Given the description of an element on the screen output the (x, y) to click on. 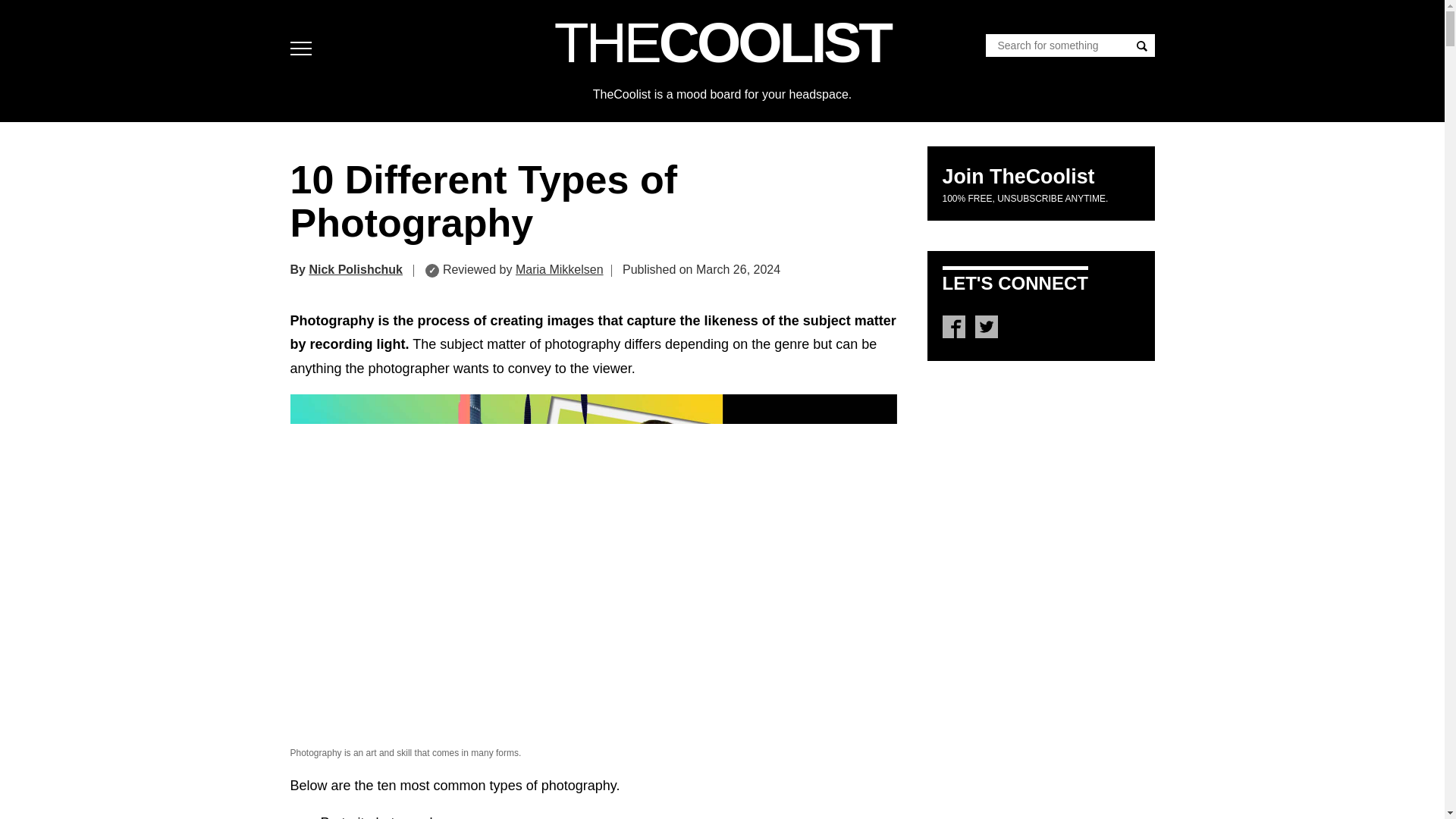
Menu (303, 48)
TheCoolist newsletter (1025, 198)
Maria Mikkelsen's articles on TheCoolist (559, 269)
Nick Polishchuk's articles on TheCoolist (355, 269)
TheCoolist Facebook (952, 326)
THECOOLIST (721, 42)
TheCoolist newsletter (1018, 176)
TheCoolist Twitter (986, 326)
Nick Polishchuk (355, 269)
